Given the description of an element on the screen output the (x, y) to click on. 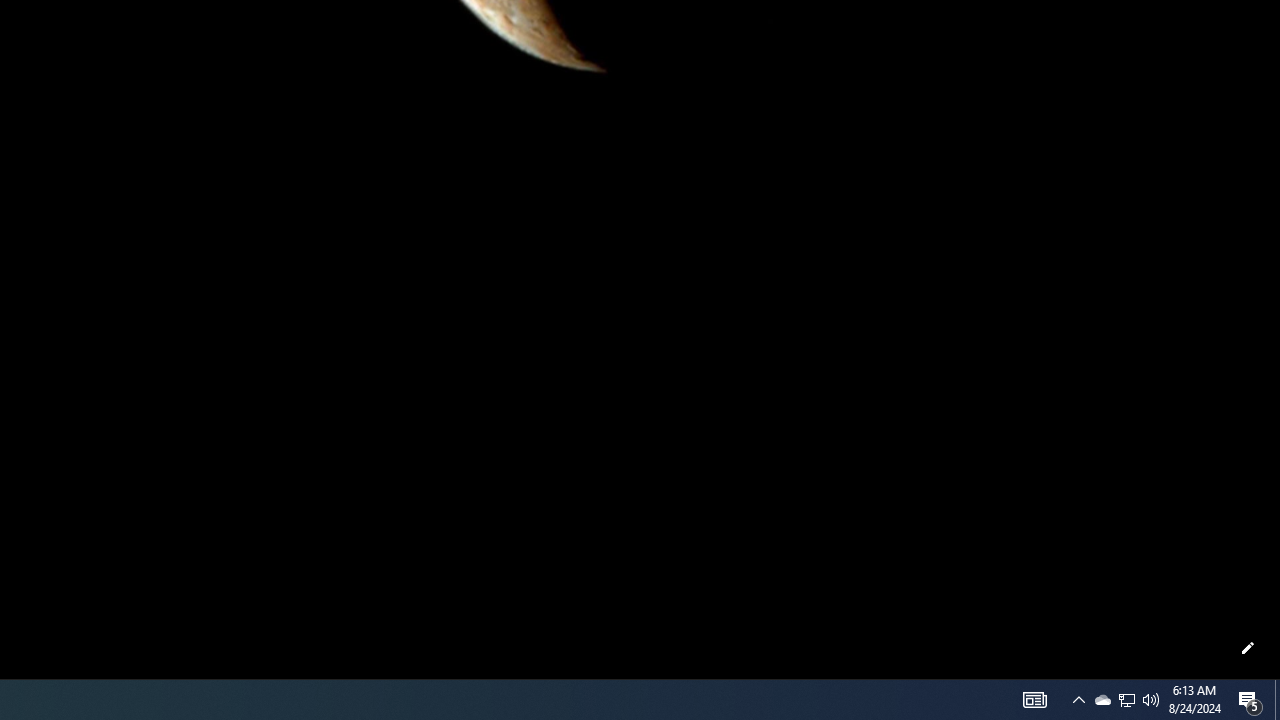
Customize this page (1247, 647)
